Given the description of an element on the screen output the (x, y) to click on. 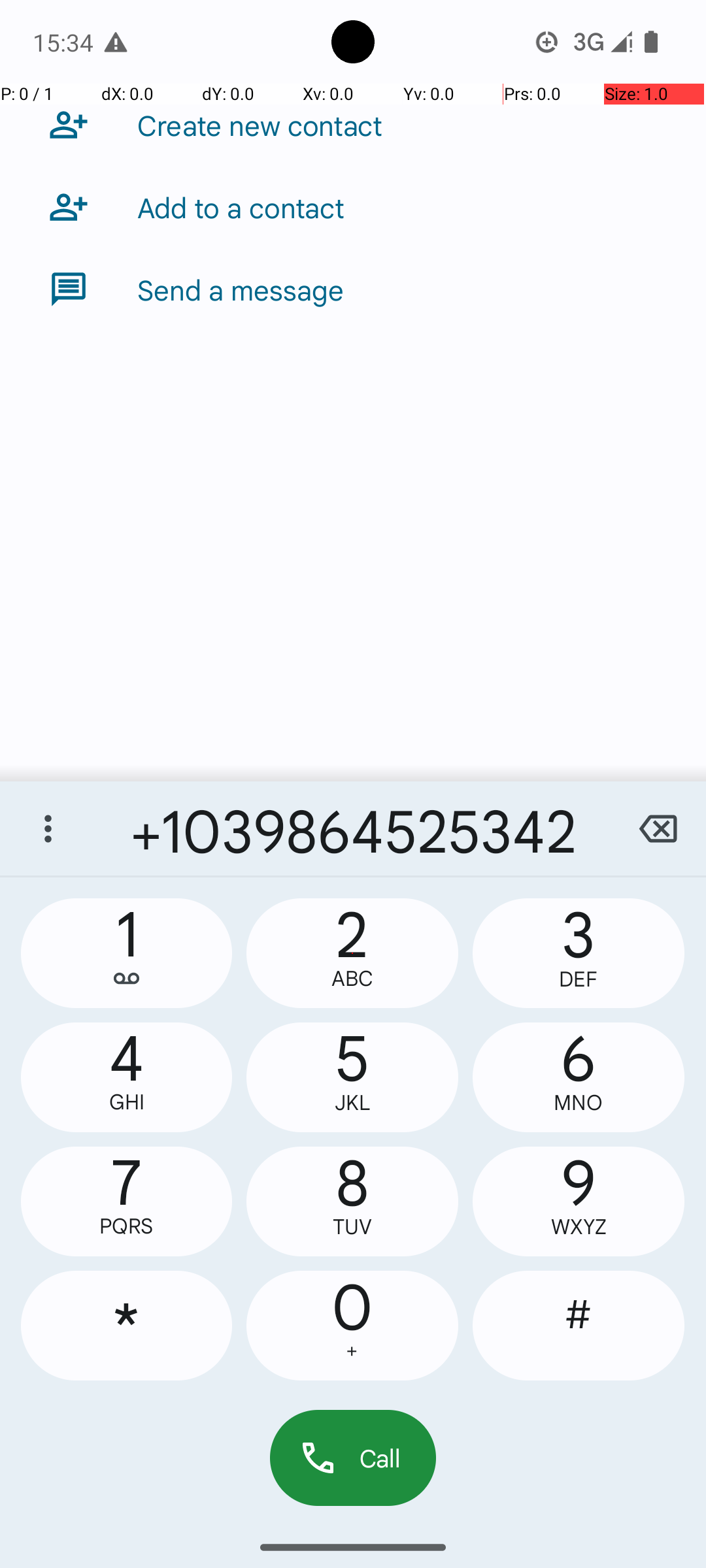
Call Element type: android.widget.Button (352, 1457)
+1039864525342 Element type: android.widget.EditText (352, 828)
backspace Element type: android.widget.ImageButton (657, 828)
1, Element type: android.widget.FrameLayout (126, 953)
2,ABC Element type: android.widget.FrameLayout (352, 953)
3,DEF Element type: android.widget.FrameLayout (578, 953)
4,GHI Element type: android.widget.FrameLayout (126, 1077)
5,JKL Element type: android.widget.FrameLayout (352, 1077)
6,MNO Element type: android.widget.FrameLayout (578, 1077)
7,PQRS Element type: android.widget.FrameLayout (126, 1201)
8,TUV Element type: android.widget.FrameLayout (352, 1201)
9,WXYZ Element type: android.widget.FrameLayout (578, 1201)
* Element type: android.widget.FrameLayout (126, 1325)
# Element type: android.widget.FrameLayout (578, 1325)
ABC Element type: android.widget.TextView (351, 978)
DEF Element type: android.widget.TextView (578, 978)
GHI Element type: android.widget.TextView (126, 1101)
JKL Element type: android.widget.TextView (351, 1102)
MNO Element type: android.widget.TextView (578, 1102)
PQRS Element type: android.widget.TextView (126, 1225)
TUV Element type: android.widget.TextView (351, 1226)
WXYZ Element type: android.widget.TextView (578, 1226)
+ Element type: android.widget.TextView (351, 1351)
Create new contact Element type: android.widget.TextView (260, 124)
Add to a contact Element type: android.widget.TextView (240, 206)
Send a message Element type: android.widget.TextView (240, 289)
